Given the description of an element on the screen output the (x, y) to click on. 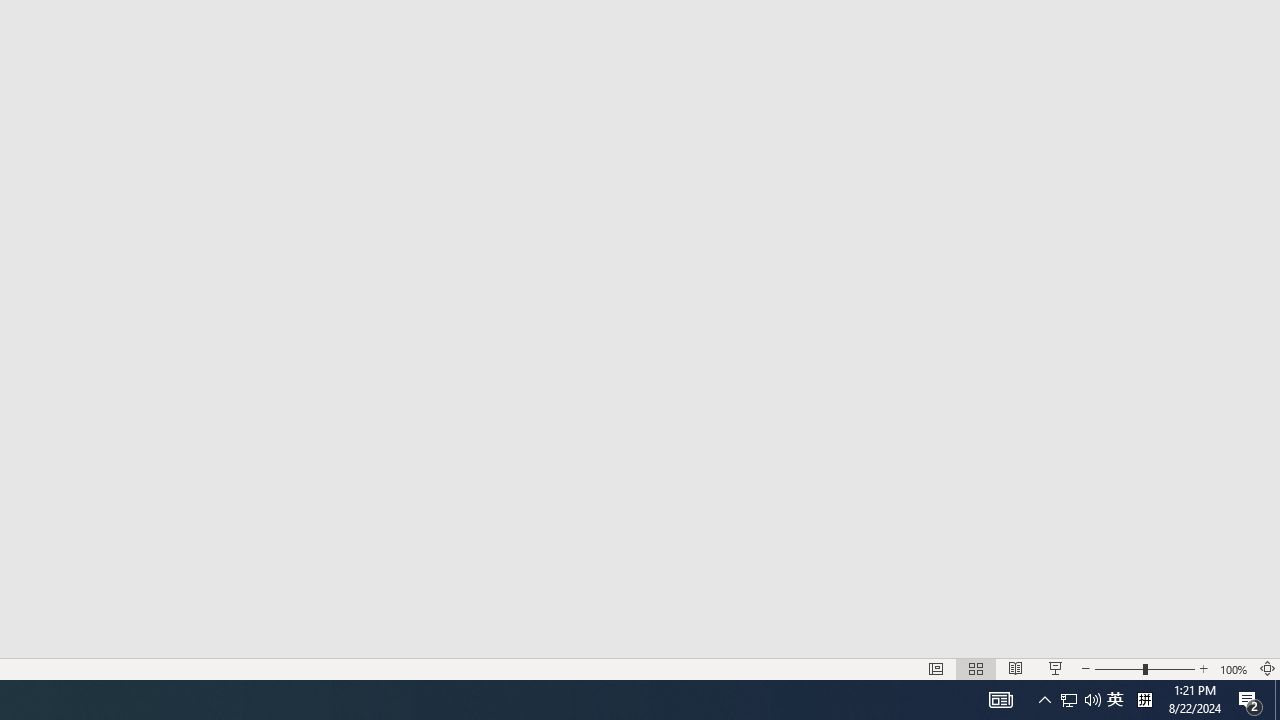
Zoom 100% (1234, 668)
